Given the description of an element on the screen output the (x, y) to click on. 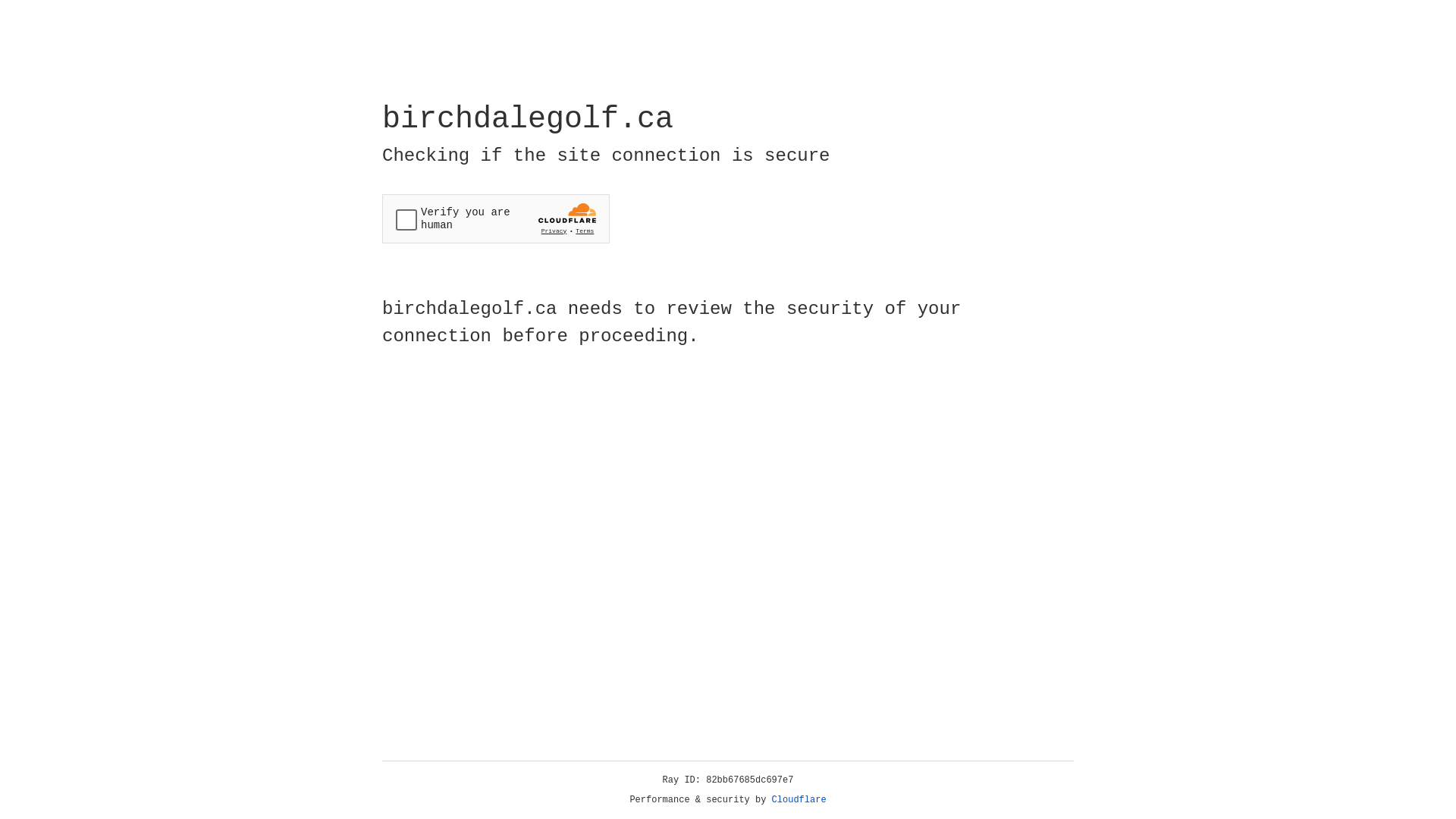
Widget containing a Cloudflare security challenge Element type: hover (495, 218)
Cloudflare Element type: text (798, 799)
